Given the description of an element on the screen output the (x, y) to click on. 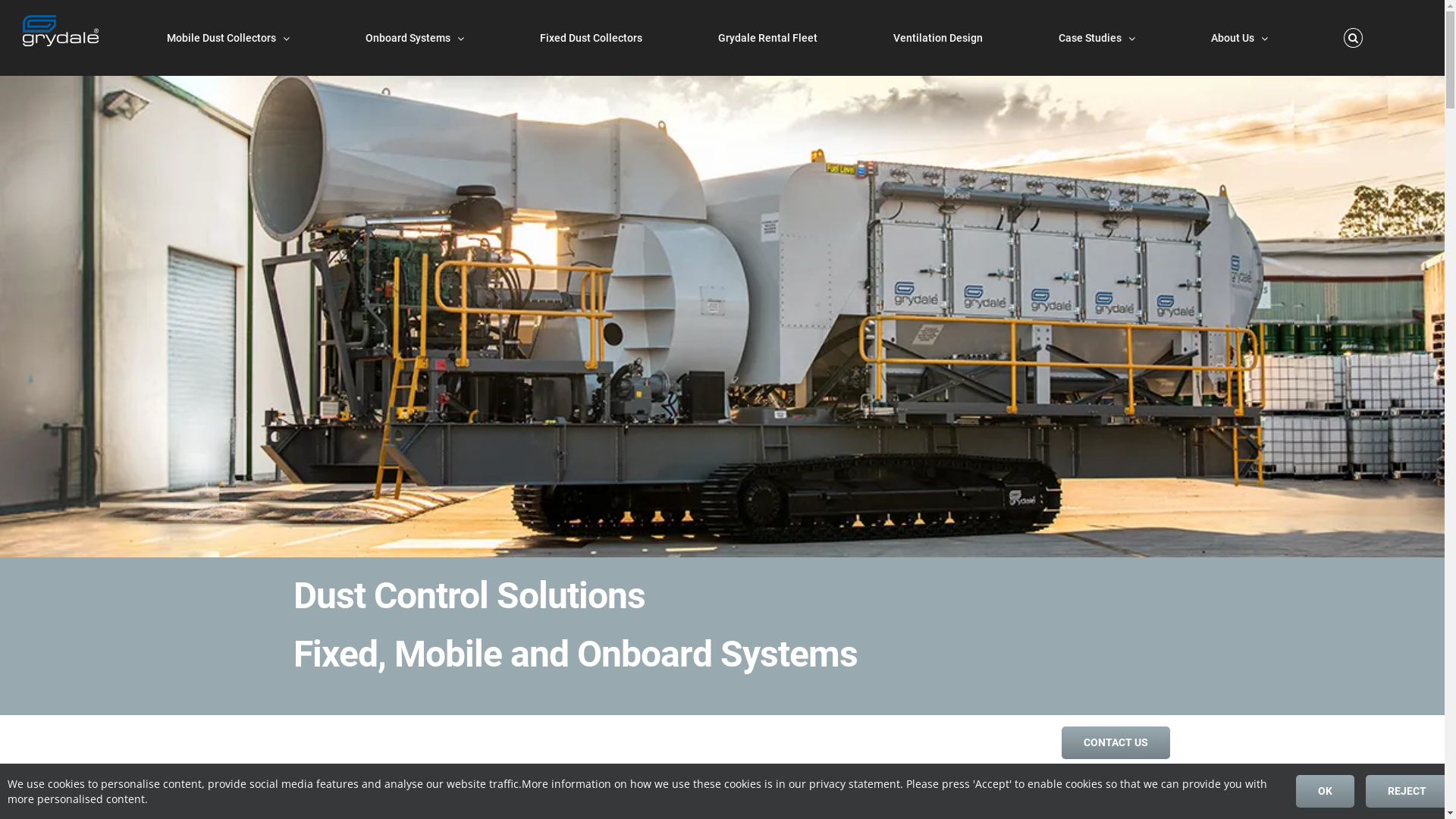
CONTACT US Element type: text (1115, 742)
Fixed Dust Collectors Element type: text (590, 37)
Ventilation Design Element type: text (937, 37)
Search Element type: hover (1353, 37)
OK Element type: text (1324, 791)
Grydale Rental Fleet Element type: text (767, 37)
About Us Element type: text (1239, 37)
Case Studies Element type: text (1096, 37)
Mobile Dust Collectors Element type: text (228, 37)
Onboard Systems Element type: text (414, 37)
REJECT Element type: text (1406, 791)
